Given the description of an element on the screen output the (x, y) to click on. 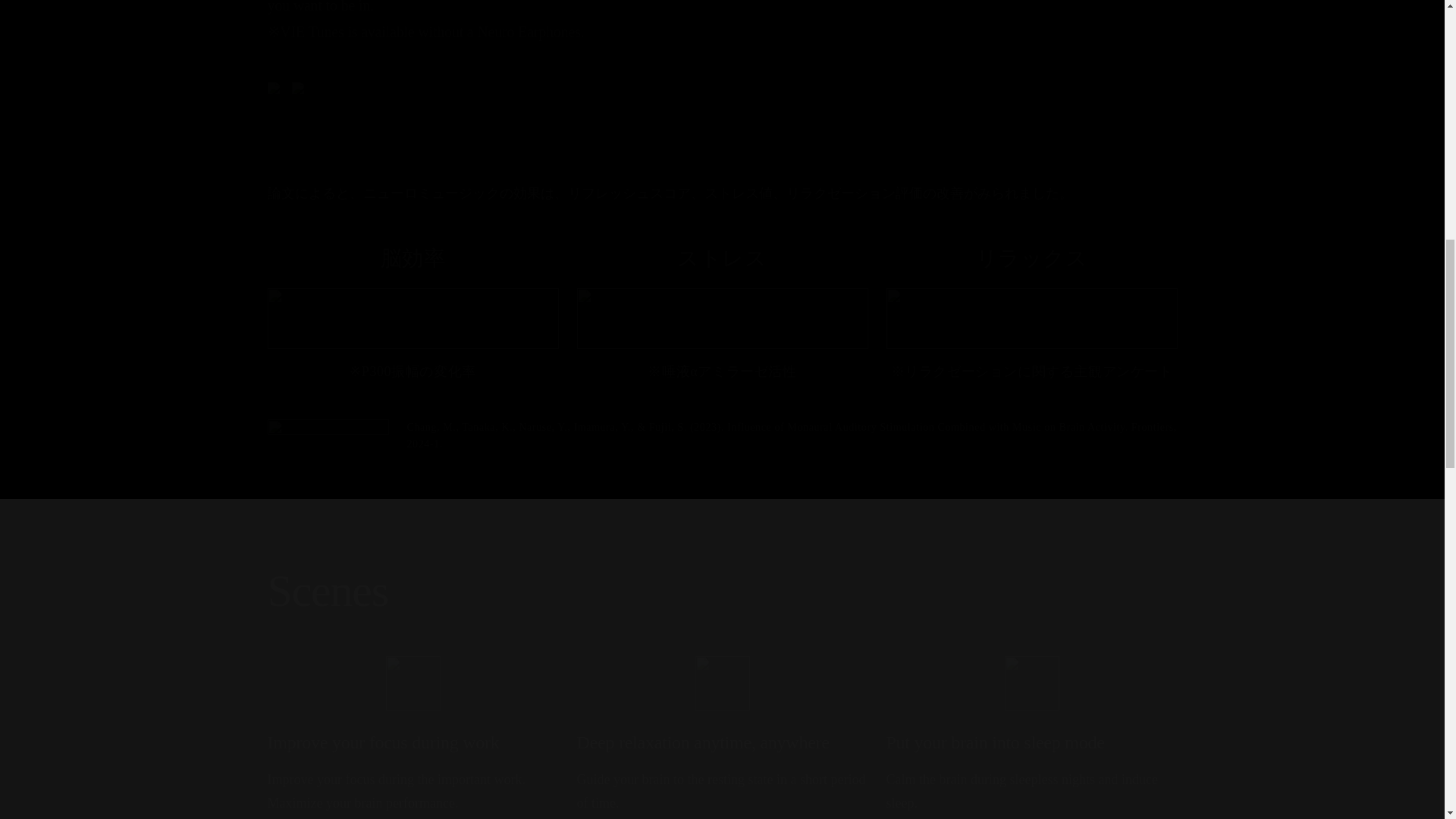
Scenes (721, 590)
